Given the description of an element on the screen output the (x, y) to click on. 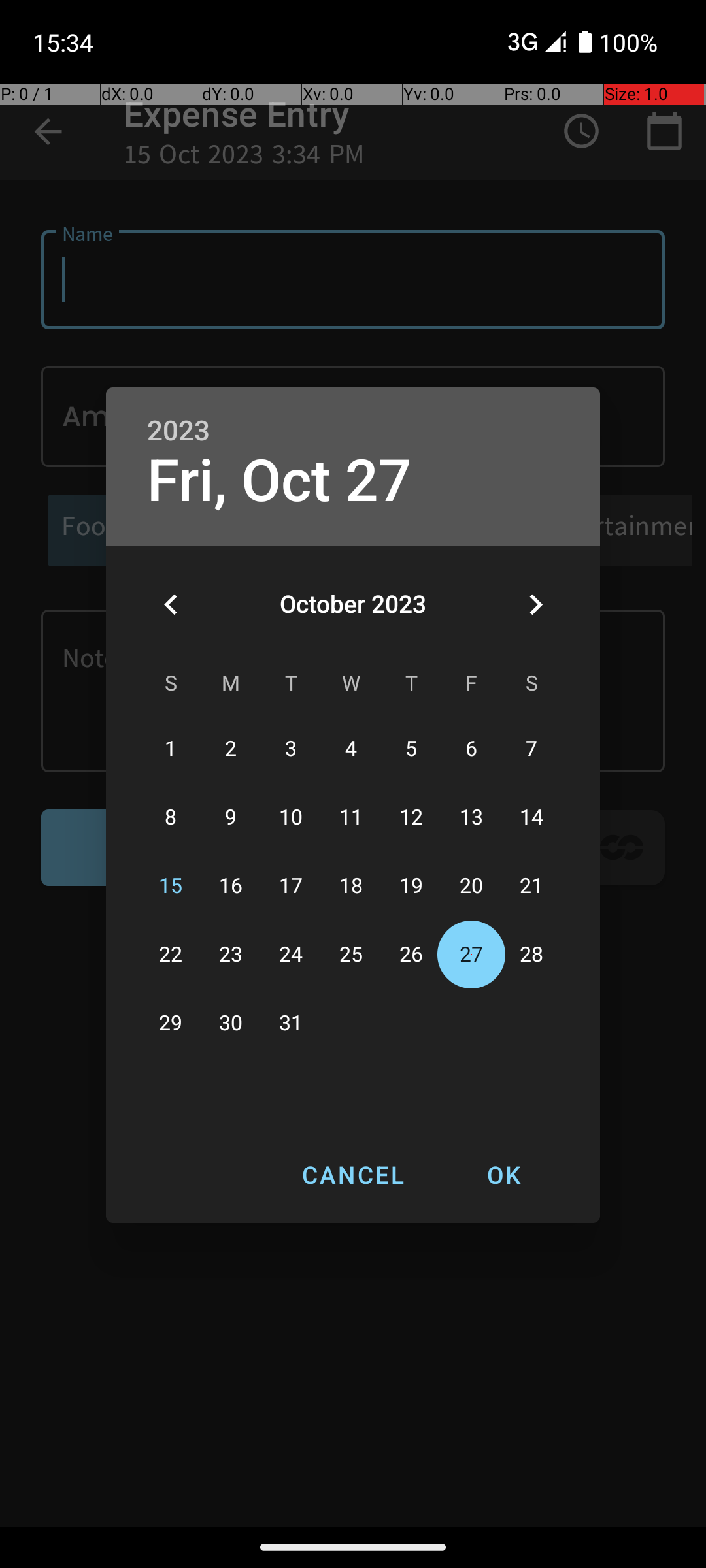
Fri, Oct 27 Element type: android.widget.TextView (279, 480)
